Given the description of an element on the screen output the (x, y) to click on. 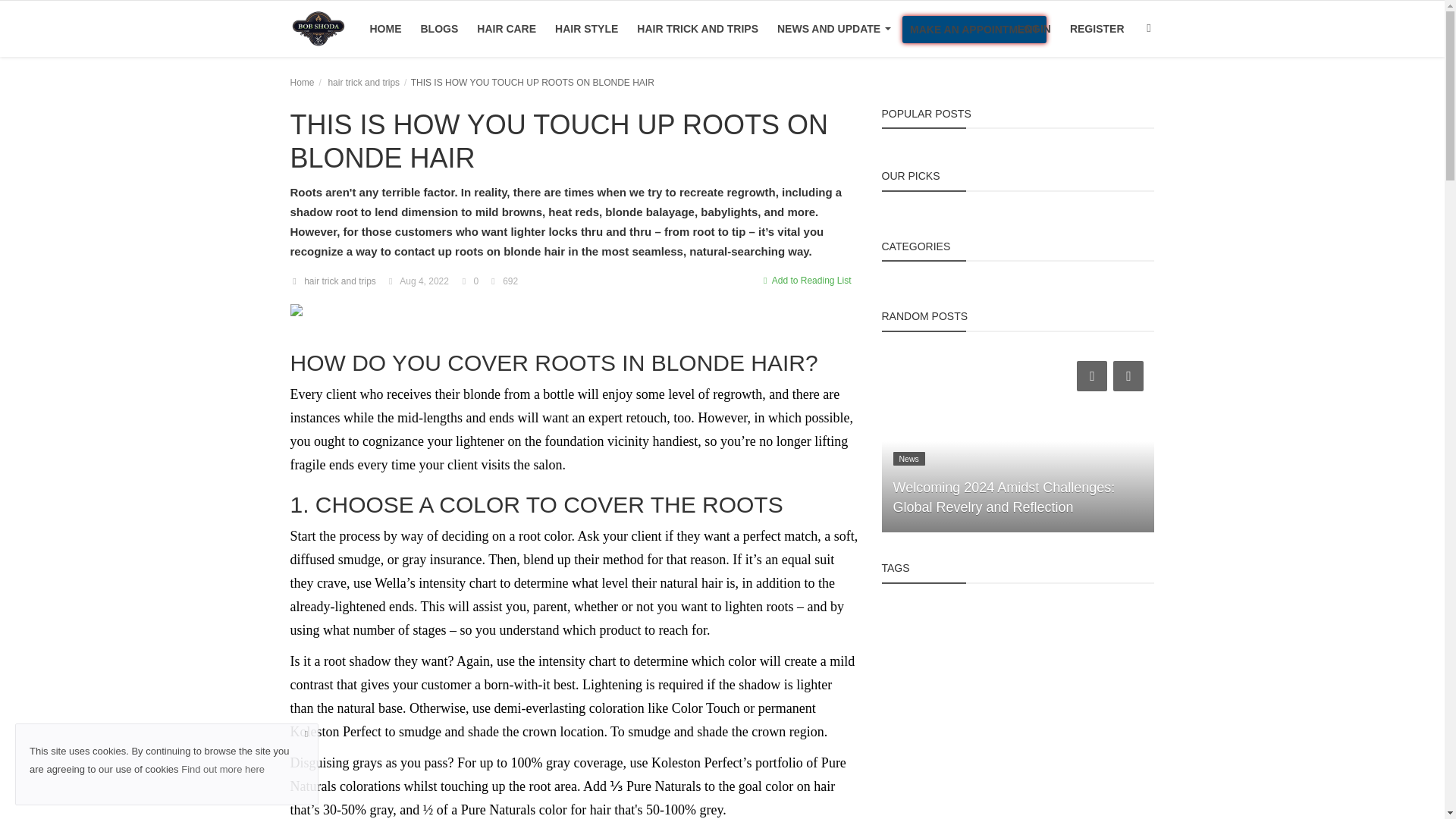
MAKE AN APPOINTMENT (974, 29)
HAIR TRICK AND TRIPS (696, 28)
REGISTER (1097, 28)
BLOGS (438, 28)
hair trick and trips (362, 81)
  hair trick and trips (333, 281)
Home (301, 81)
HAIR CARE (505, 28)
NEWS AND UPDATE (834, 28)
 Add to Reading List (805, 280)
